Given the description of an element on the screen output the (x, y) to click on. 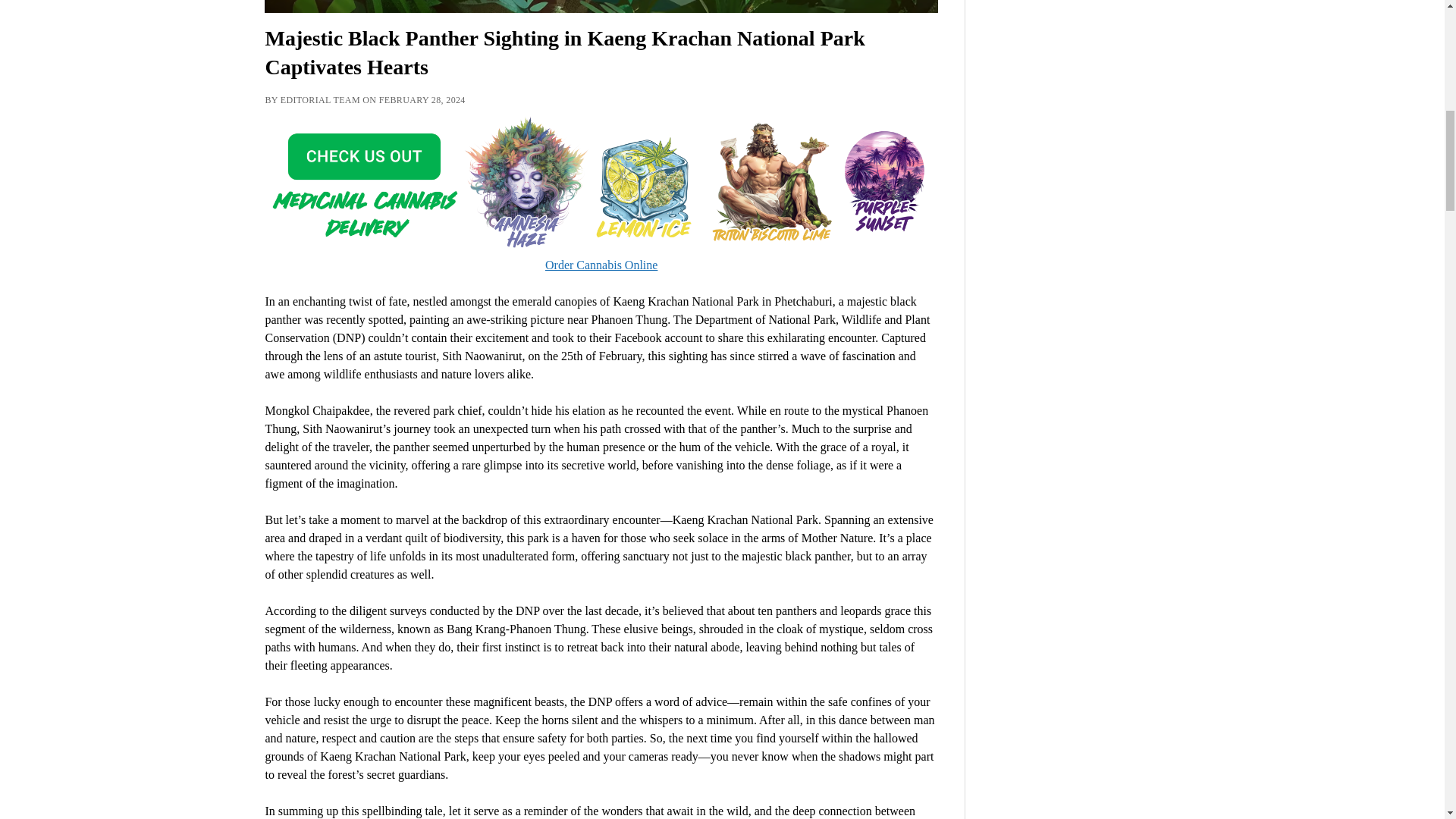
Order Cannabis Online (600, 255)
